Given the description of an element on the screen output the (x, y) to click on. 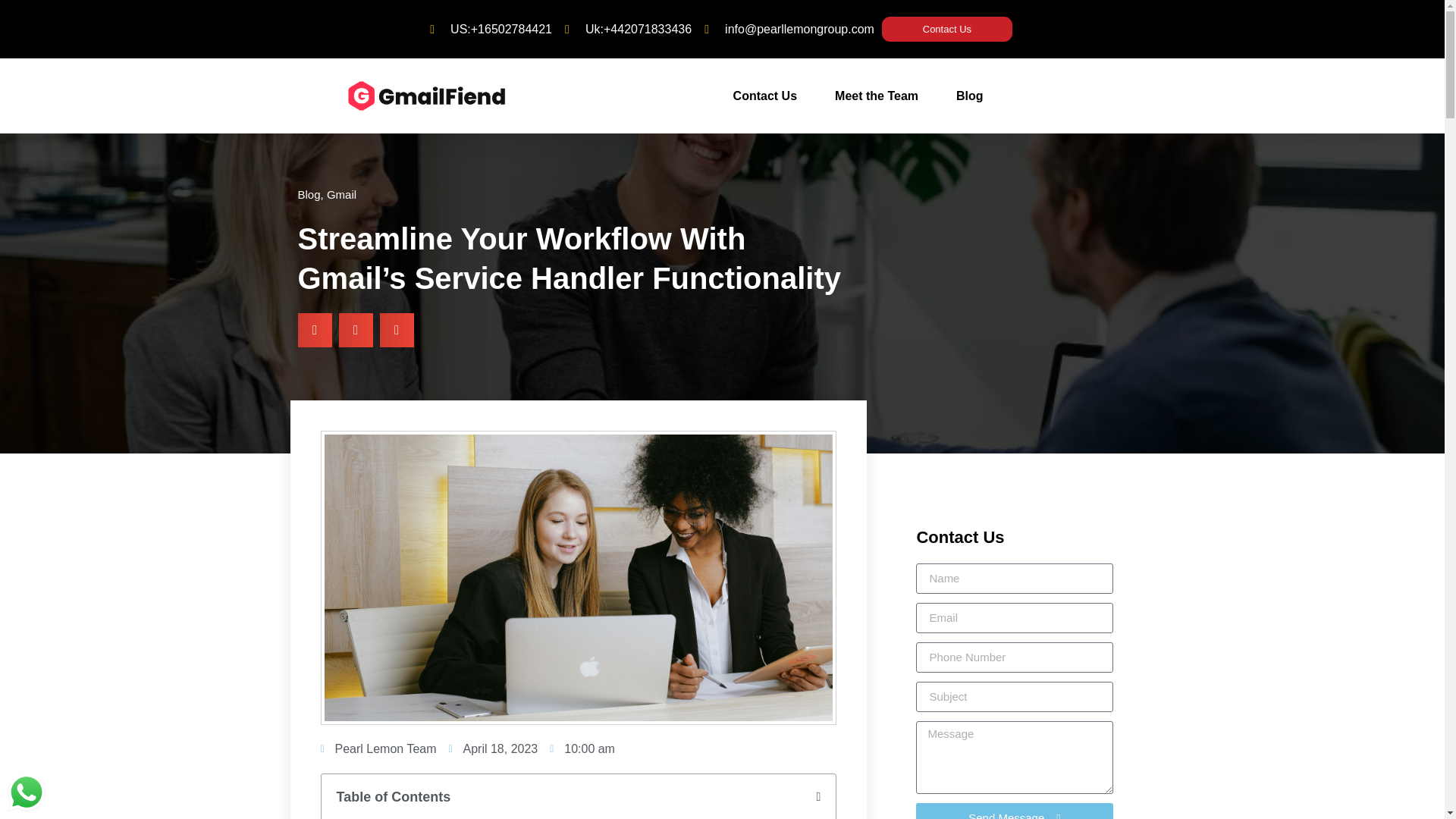
April 18, 2023 (493, 749)
Gmail (341, 194)
Meet the Team (876, 95)
Contact Us (764, 95)
Blog (308, 194)
Pearl Lemon Team (377, 749)
Contact Us (946, 28)
